Given the description of an element on the screen output the (x, y) to click on. 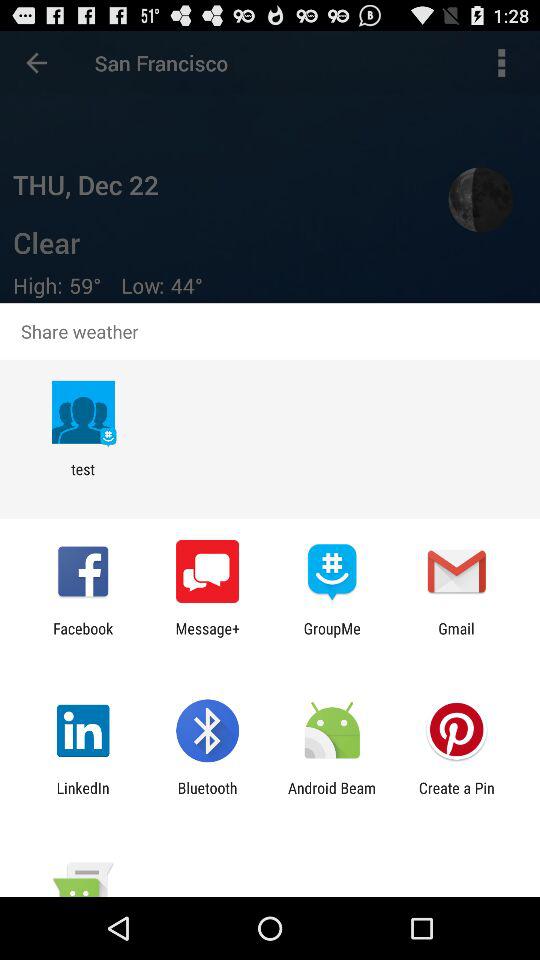
choose icon next to android beam item (456, 796)
